Given the description of an element on the screen output the (x, y) to click on. 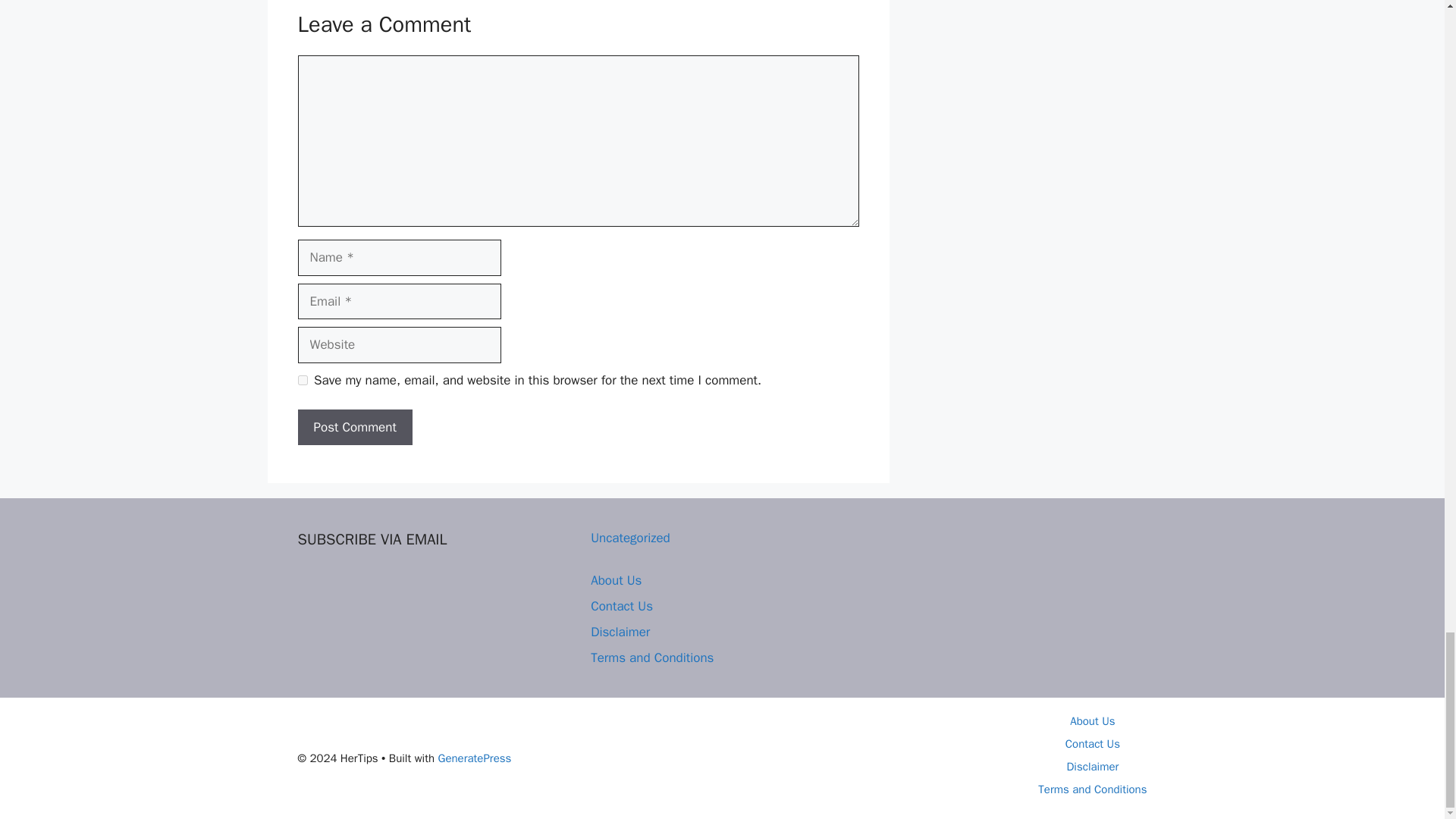
Disclaimer (620, 631)
GeneratePress (475, 757)
Post Comment (354, 427)
yes (302, 379)
About Us (1092, 721)
Disclaimer (1091, 766)
Contact Us (1092, 744)
Uncategorized (630, 537)
Terms and Conditions (652, 657)
About Us (616, 580)
Post Comment (354, 427)
Terms and Conditions (1092, 789)
Contact Us (621, 606)
